Given the description of an element on the screen output the (x, y) to click on. 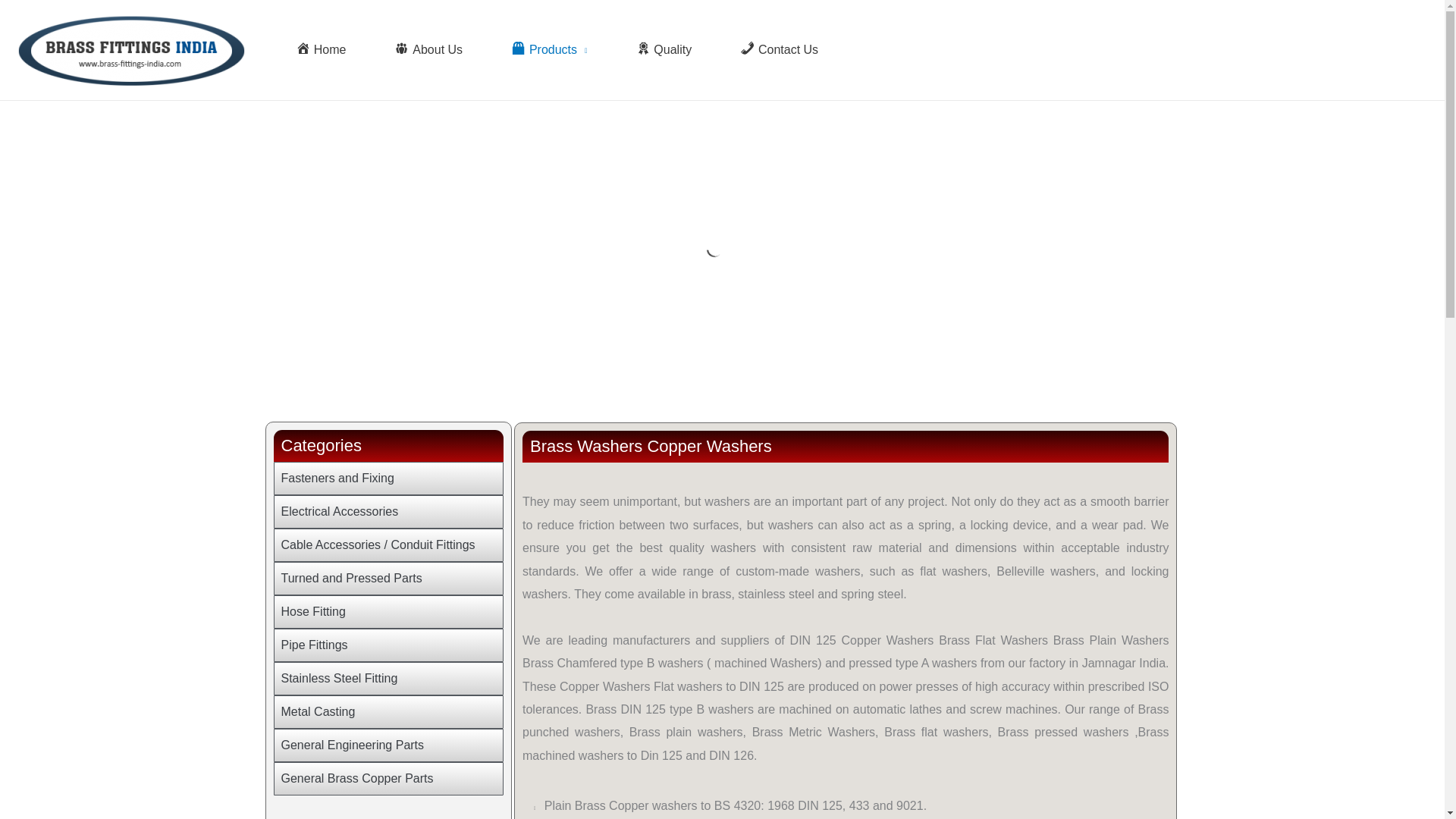
About Us (427, 49)
Products (548, 49)
Home (319, 49)
